Given the description of an element on the screen output the (x, y) to click on. 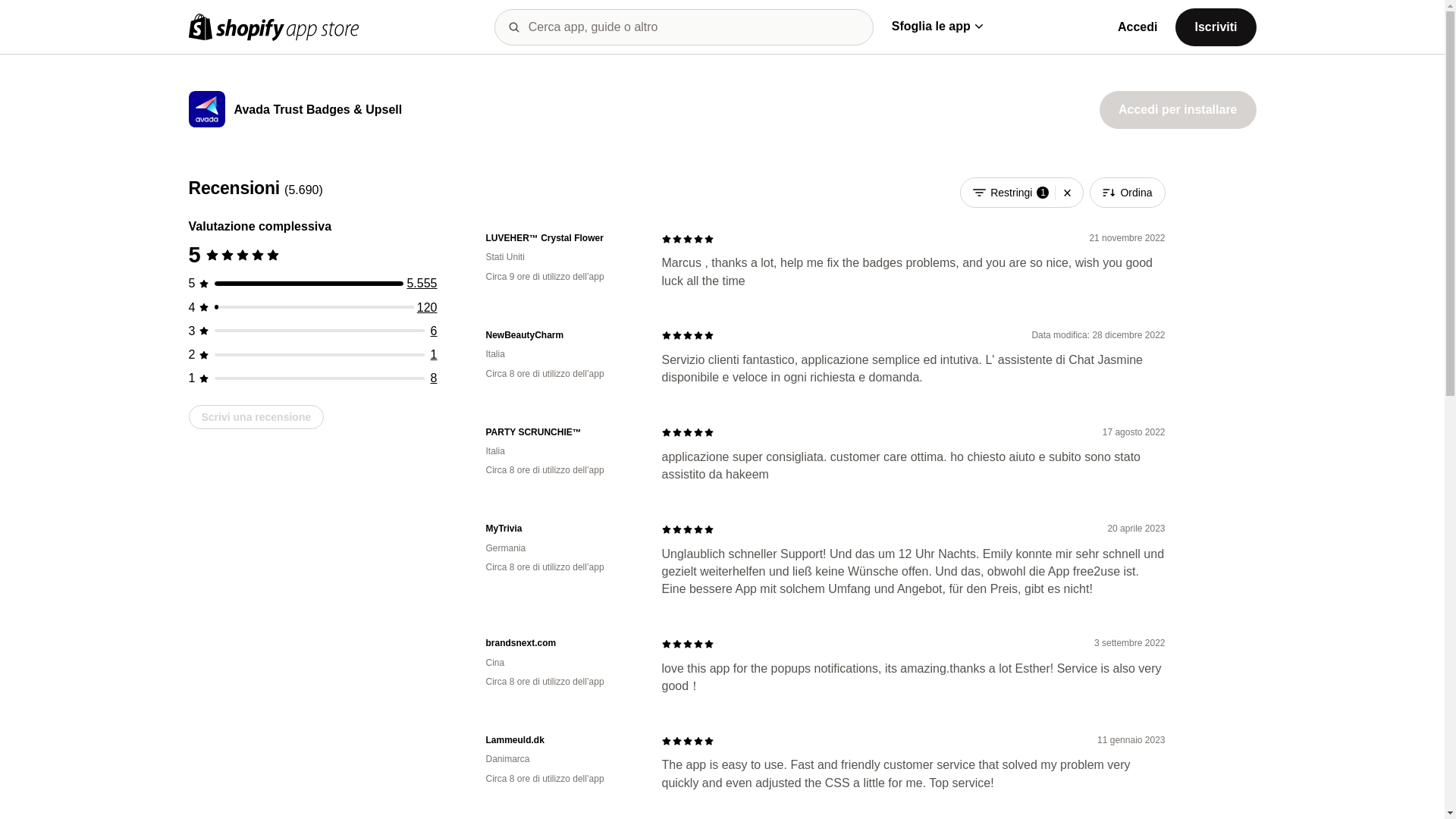
Accedi per installare (1177, 109)
Lammeuld.dk (560, 739)
Accedi (1137, 27)
MyTrivia (560, 528)
120 (427, 307)
5.555 (421, 282)
NewBeautyCharm (560, 335)
brandsnext.com (560, 643)
Iscriviti (1214, 26)
Sfoglia le app (936, 26)
